Given the description of an element on the screen output the (x, y) to click on. 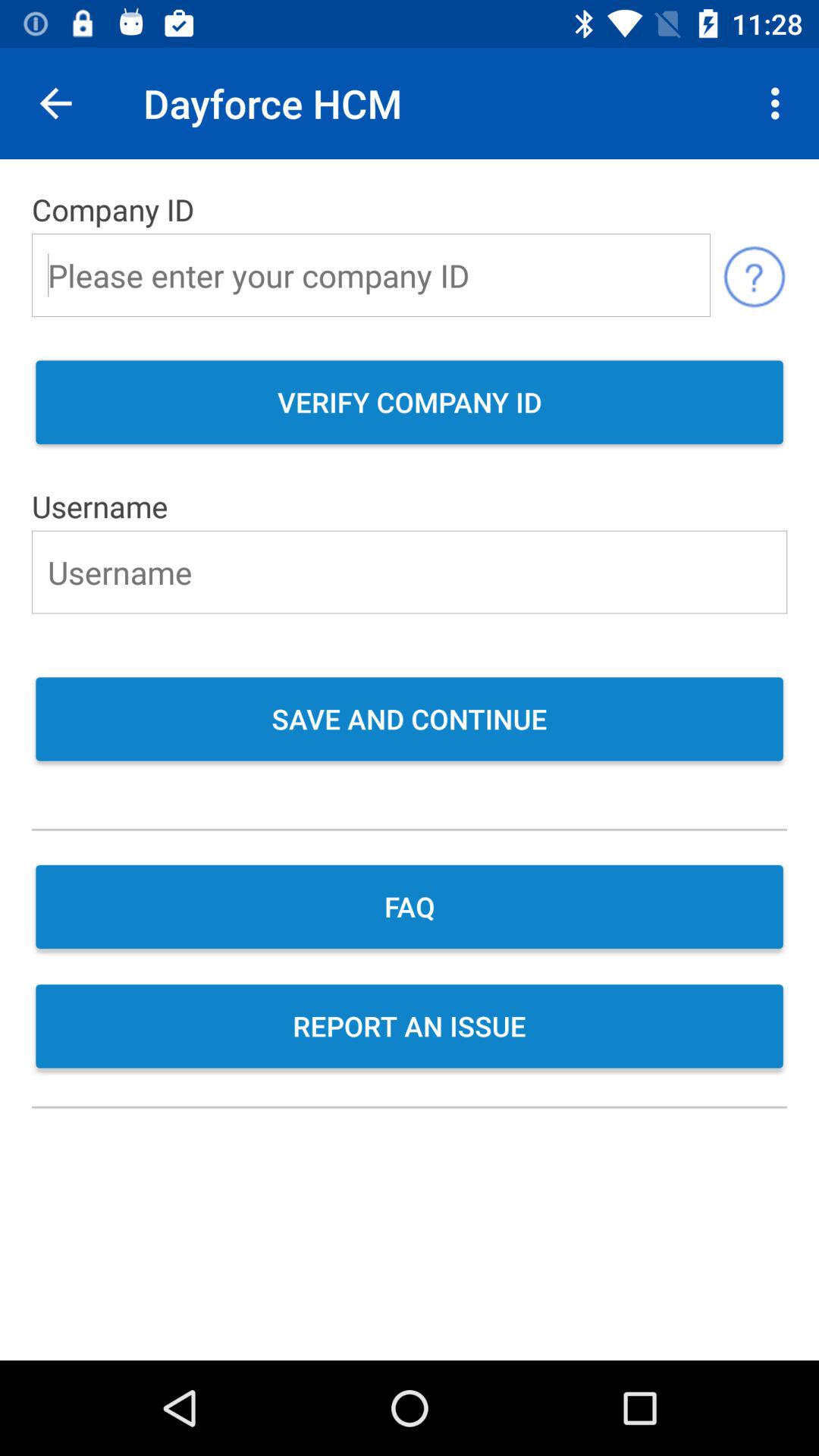
turn on the item above report an issue (409, 908)
